Given the description of an element on the screen output the (x, y) to click on. 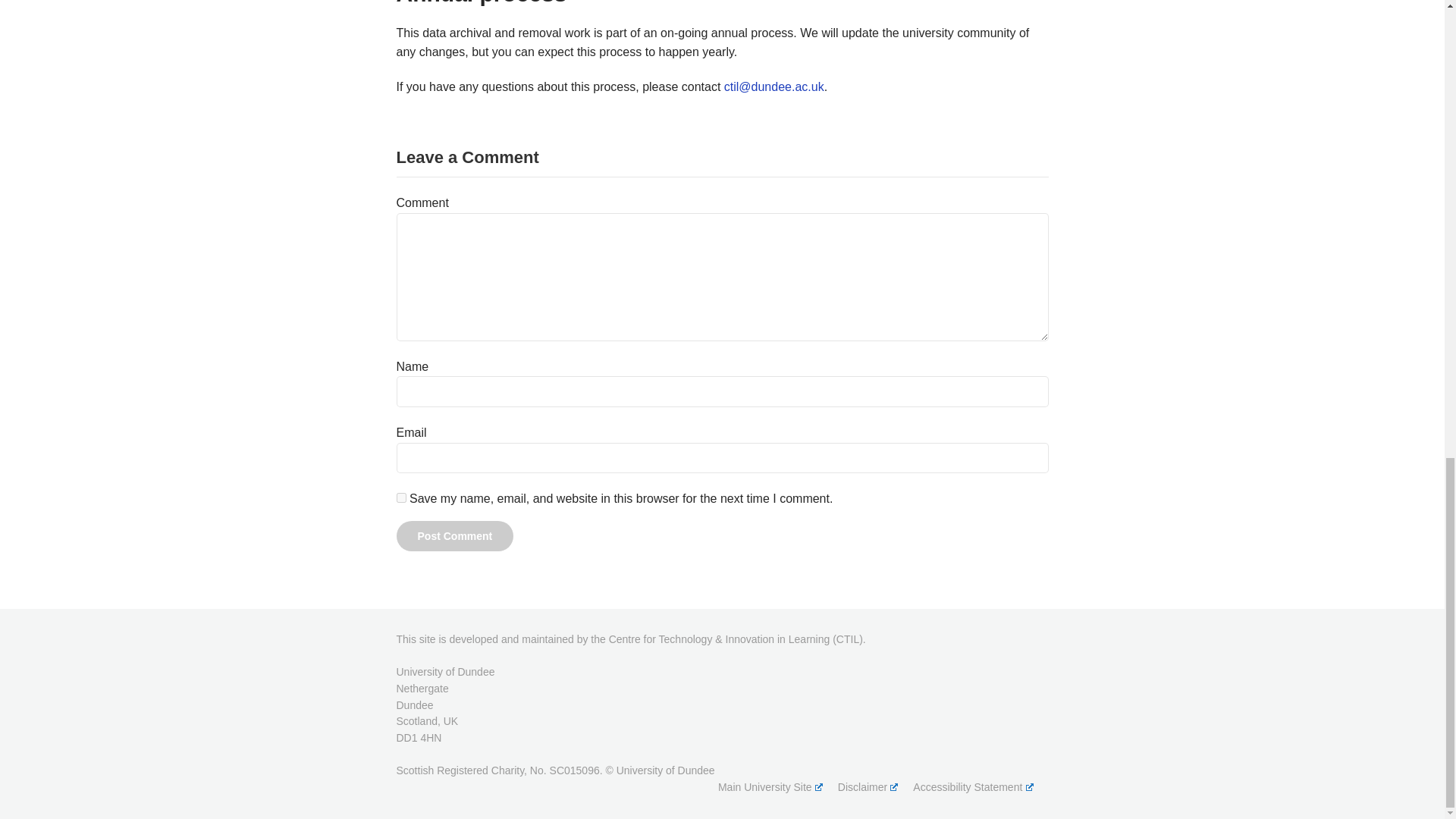
Main University Site (769, 787)
Accessibility Statement (972, 787)
Post Comment (454, 535)
yes (401, 497)
Post Comment (454, 535)
Disclaimer (868, 787)
